Given the description of an element on the screen output the (x, y) to click on. 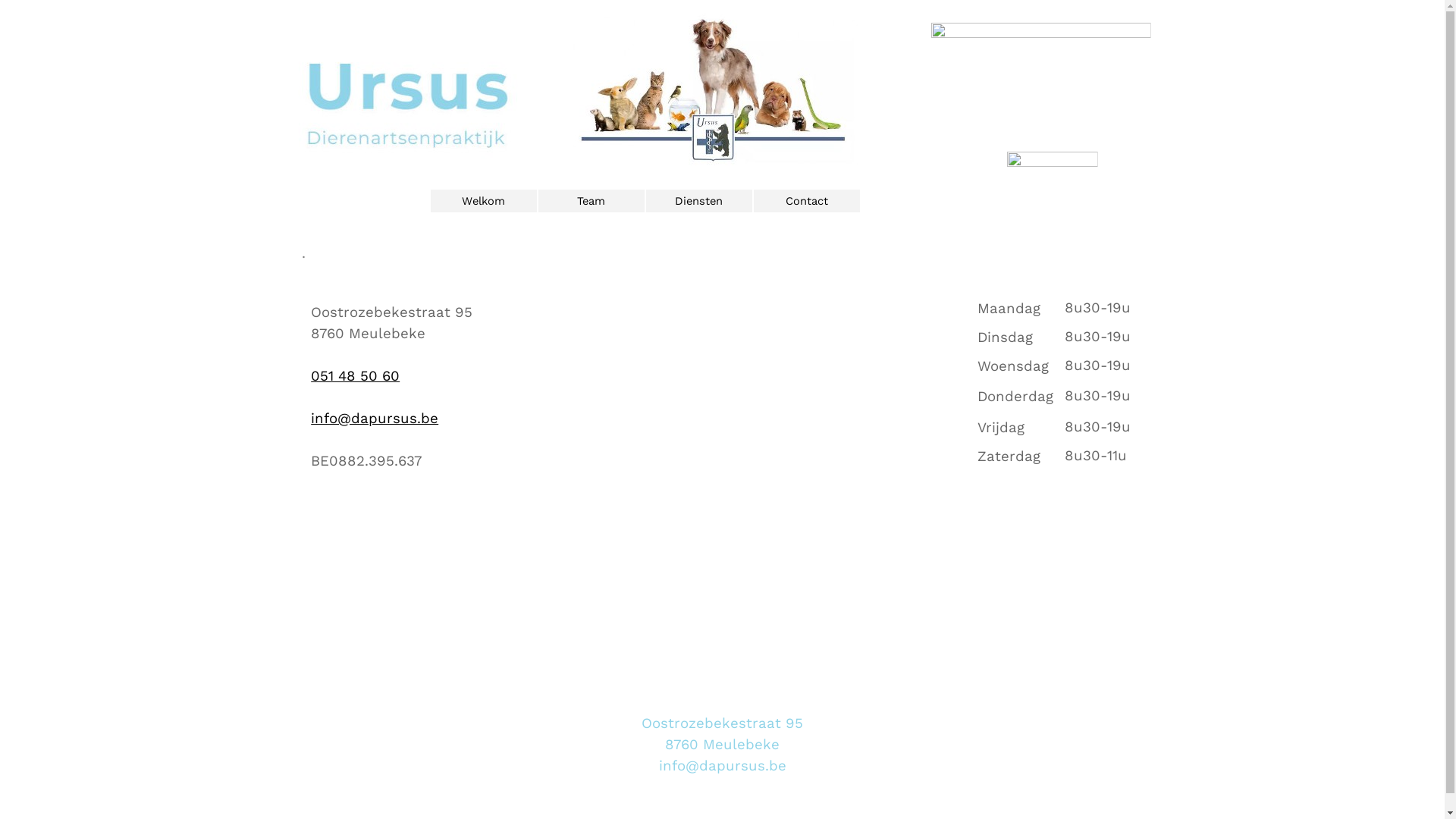
Diensten Element type: text (698, 200)
Welkom Element type: text (482, 200)
051 48 50 60 Element type: text (354, 375)
info@dapursus.be Element type: text (374, 418)
Team Element type: text (590, 200)
Contact Element type: text (805, 200)
